Given the description of an element on the screen output the (x, y) to click on. 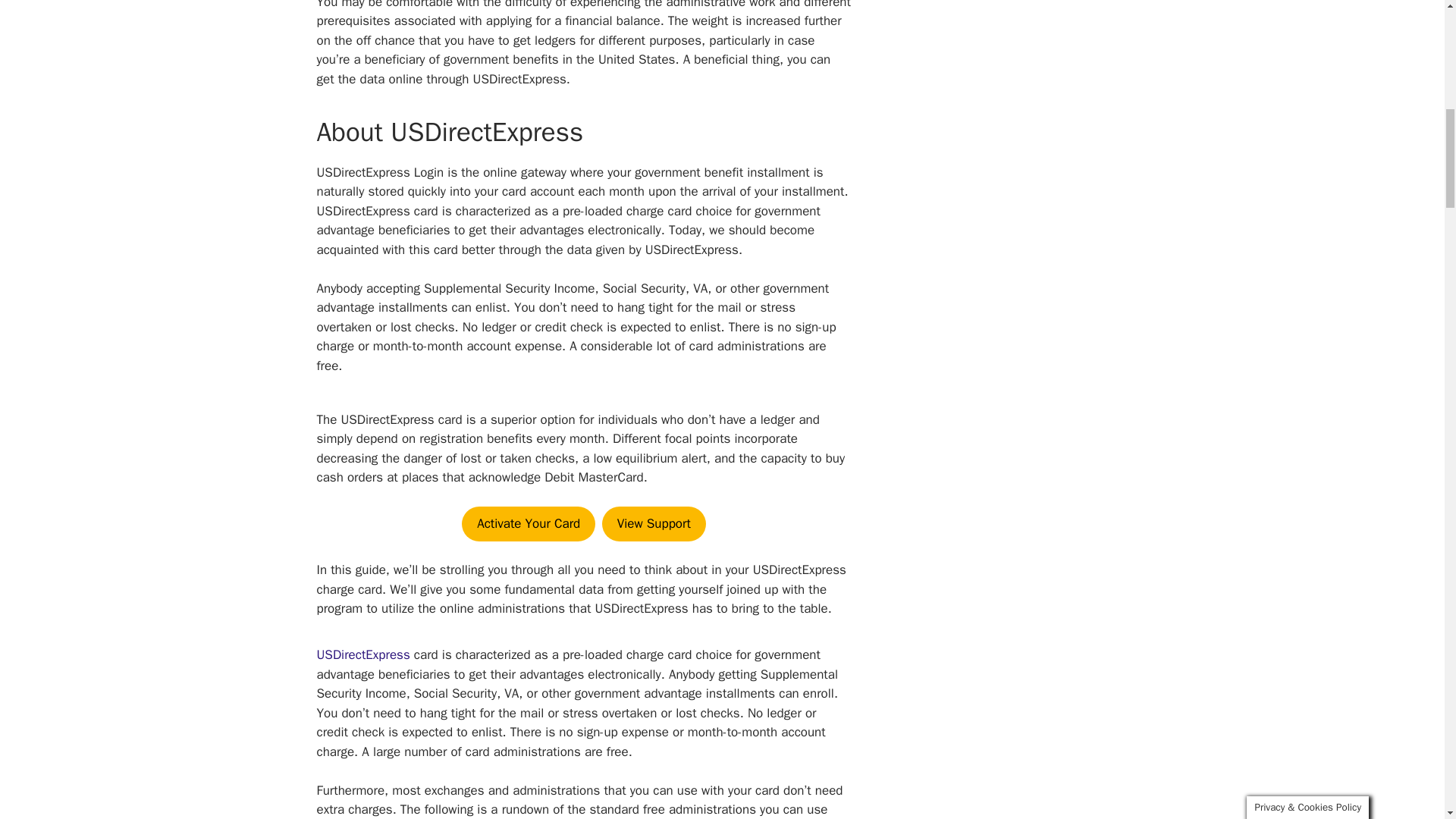
Activate Your Card (528, 523)
USDirectExpress (363, 654)
View Support (654, 523)
